Given the description of an element on the screen output the (x, y) to click on. 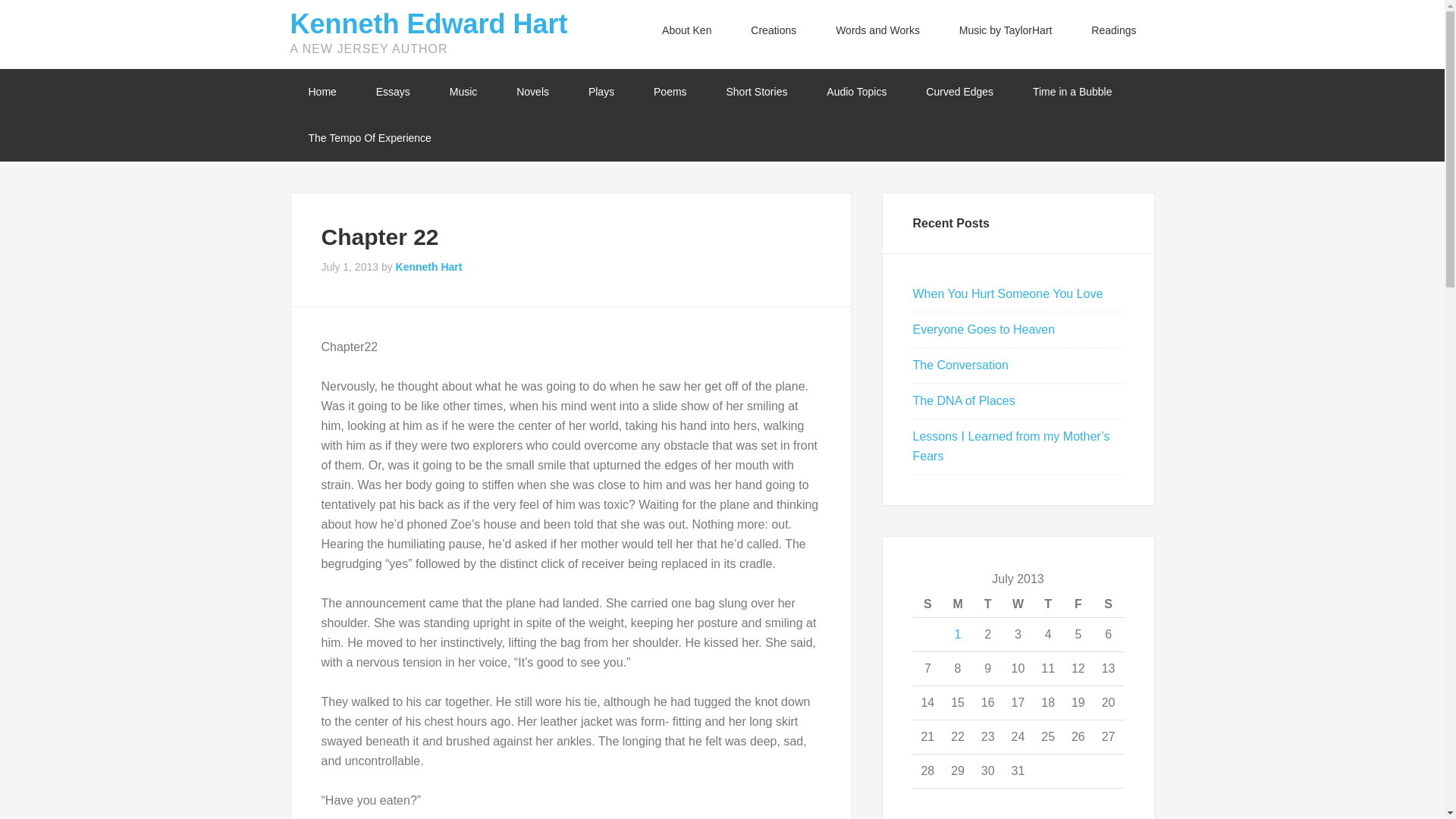
Thursday (1047, 604)
The Conversation (960, 364)
The DNA of Places (963, 400)
1 (957, 634)
Wednesday (1018, 604)
Curved Edges (959, 91)
Monday (957, 604)
Plays (600, 91)
Poems (669, 91)
Everyone Goes to Heaven (983, 328)
About Ken (686, 30)
Sunday (927, 604)
When You Hurt Someone You Love (1007, 293)
Novels (532, 91)
Home (321, 91)
